Given the description of an element on the screen output the (x, y) to click on. 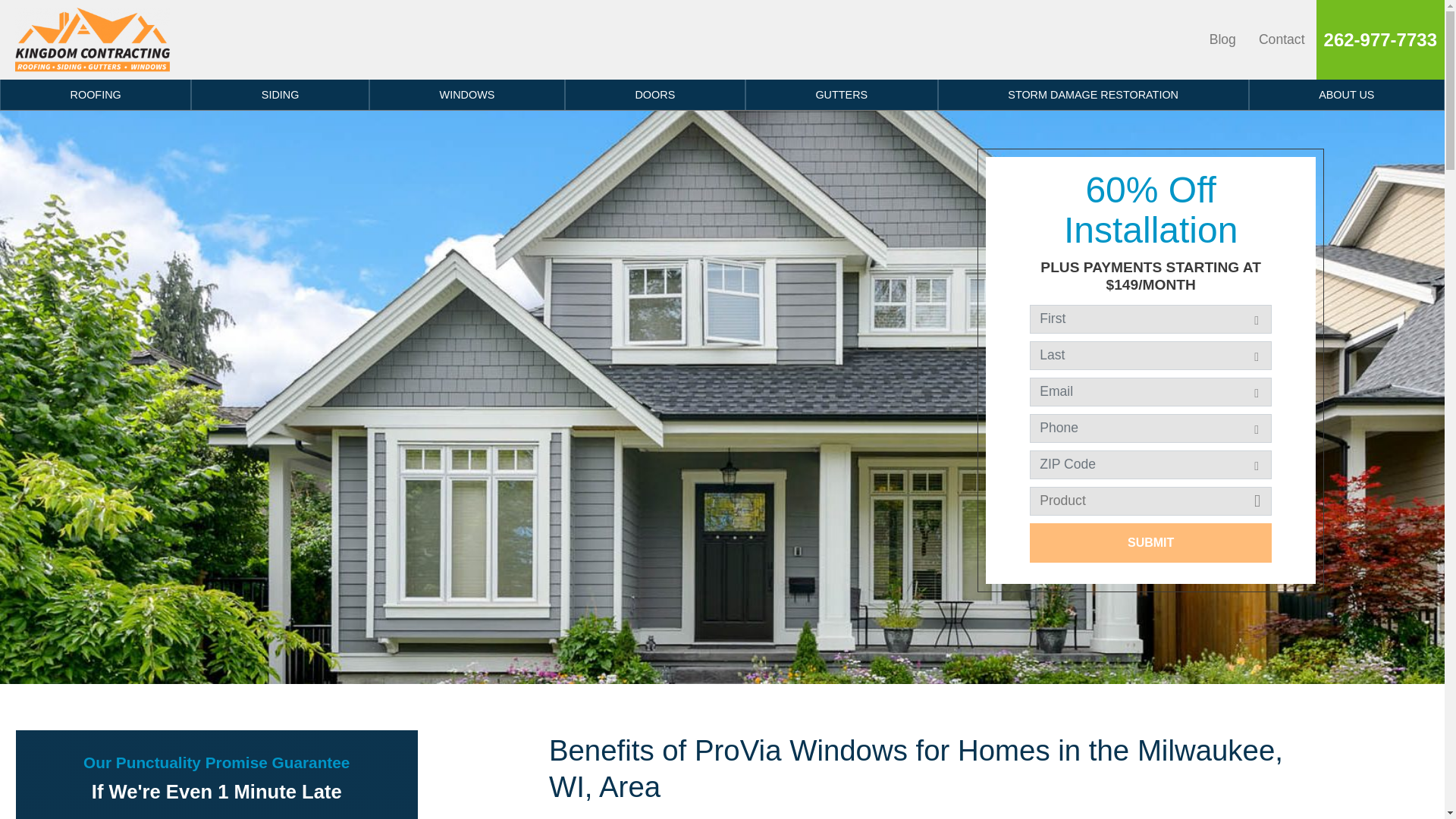
DOORS (654, 94)
GUTTERS (841, 94)
STORM DAMAGE RESTORATION (1093, 94)
ROOFING (95, 94)
Blog (1222, 40)
SIDING (279, 94)
SUBMIT (1150, 542)
Kingdom Contracting (92, 39)
Contact (1281, 40)
WINDOWS (466, 94)
